Given the description of an element on the screen output the (x, y) to click on. 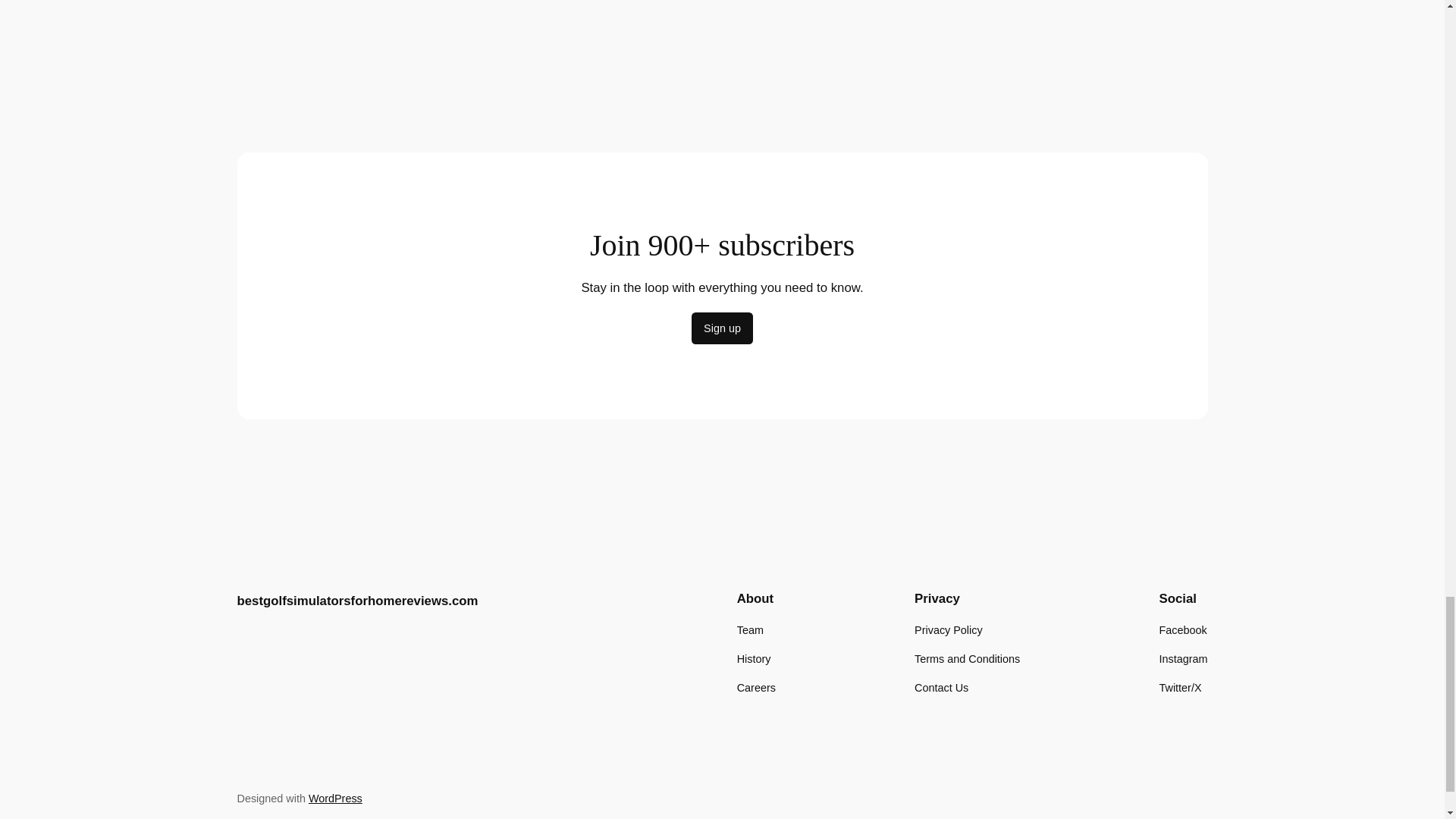
Privacy Policy (948, 629)
History (753, 658)
Contact Us (941, 687)
Instagram (1182, 658)
WordPress (335, 798)
Terms and Conditions (967, 658)
bestgolfsimulatorsforhomereviews.com (356, 600)
Careers (756, 687)
Sign up (721, 327)
Facebook (1182, 629)
Team (749, 629)
